Given the description of an element on the screen output the (x, y) to click on. 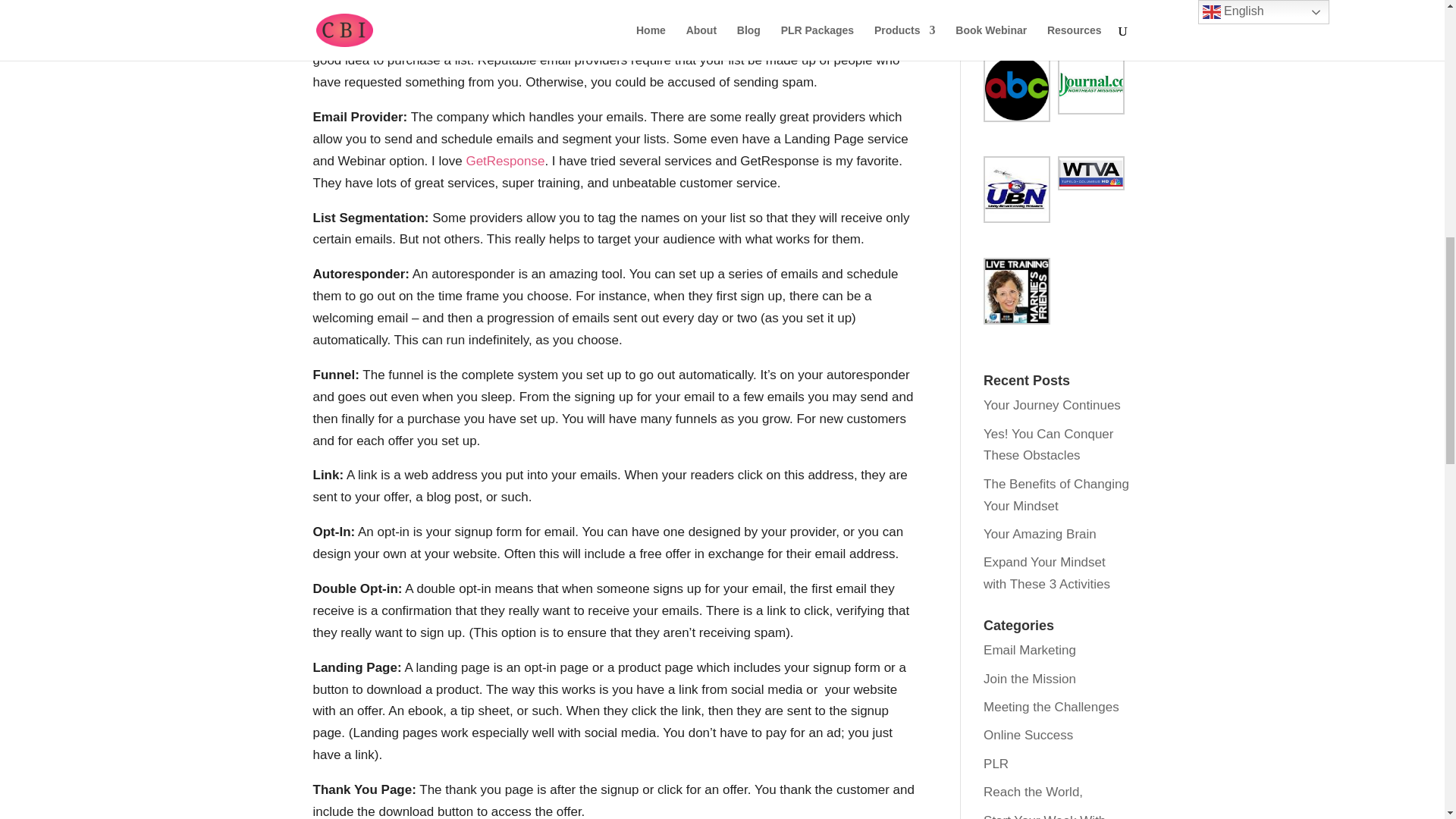
Yes! You Can Conquer These Obstacles (1048, 444)
Your Journey Continues (1052, 405)
GetResponse (504, 160)
